Given the description of an element on the screen output the (x, y) to click on. 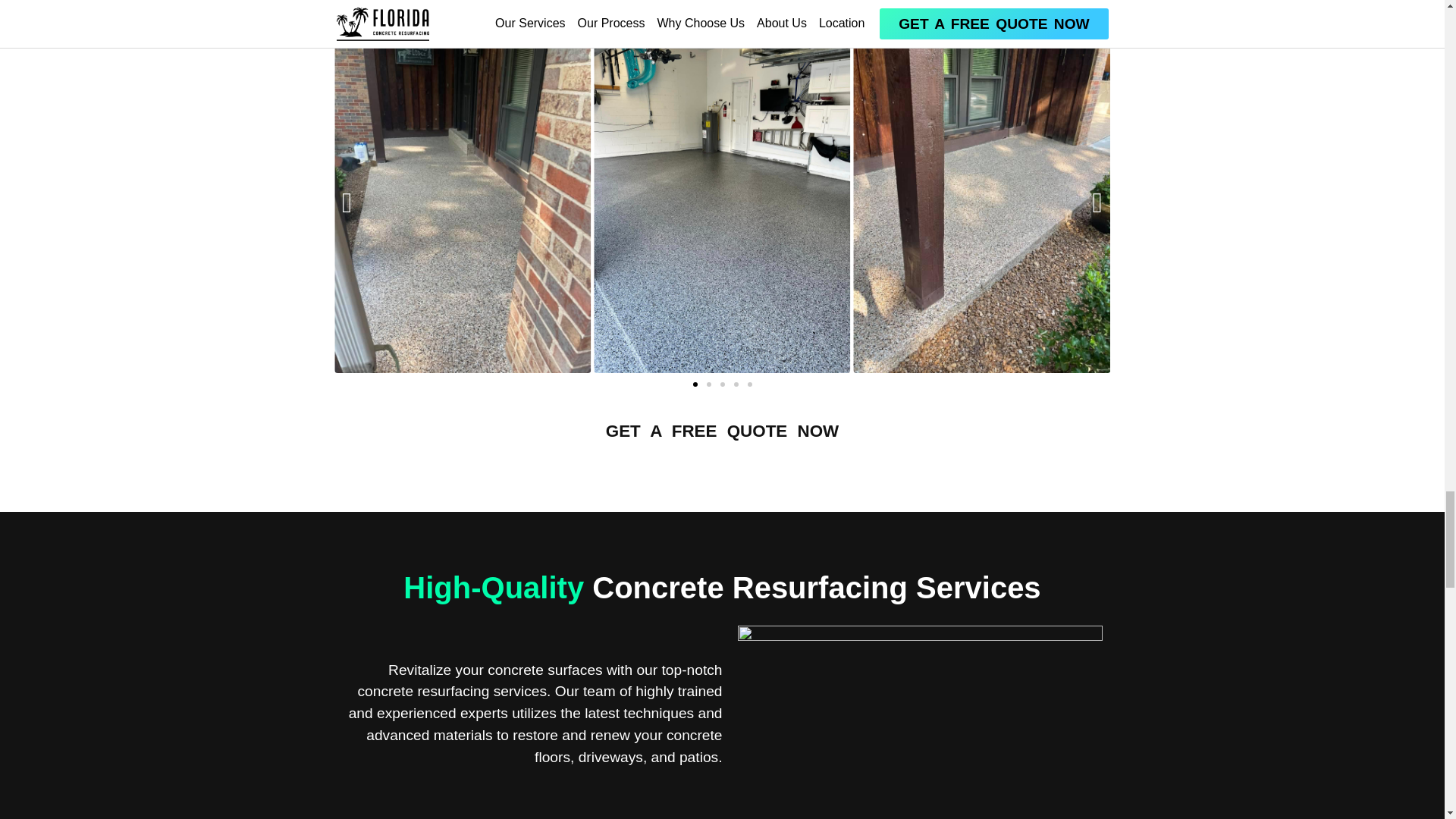
GET A FREE QUOTE NOW (722, 431)
